Given the description of an element on the screen output the (x, y) to click on. 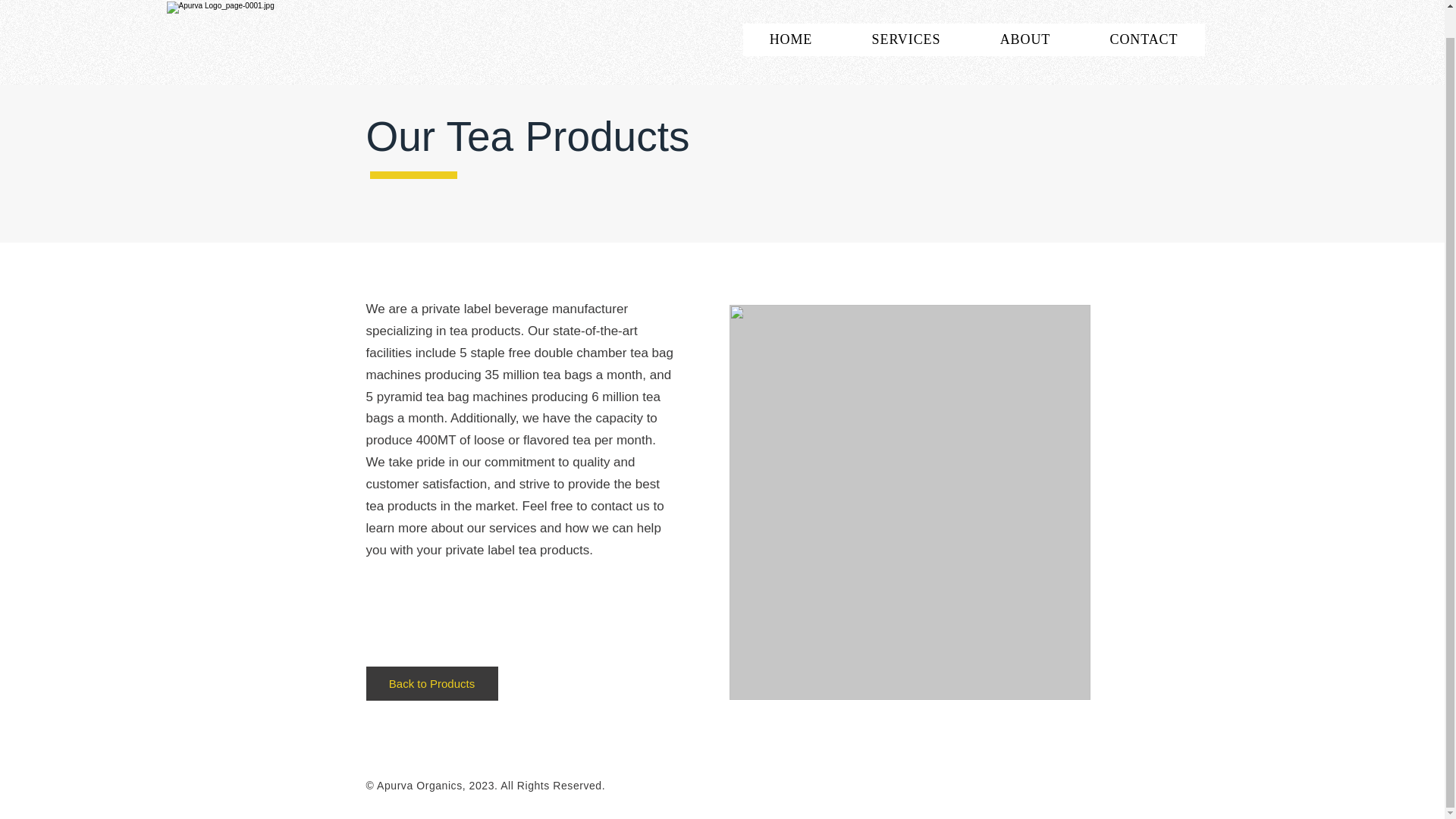
CONTACT (1143, 13)
HOME (791, 13)
ABOUT (1025, 13)
Back to Products (431, 683)
SERVICES (905, 13)
